Given the description of an element on the screen output the (x, y) to click on. 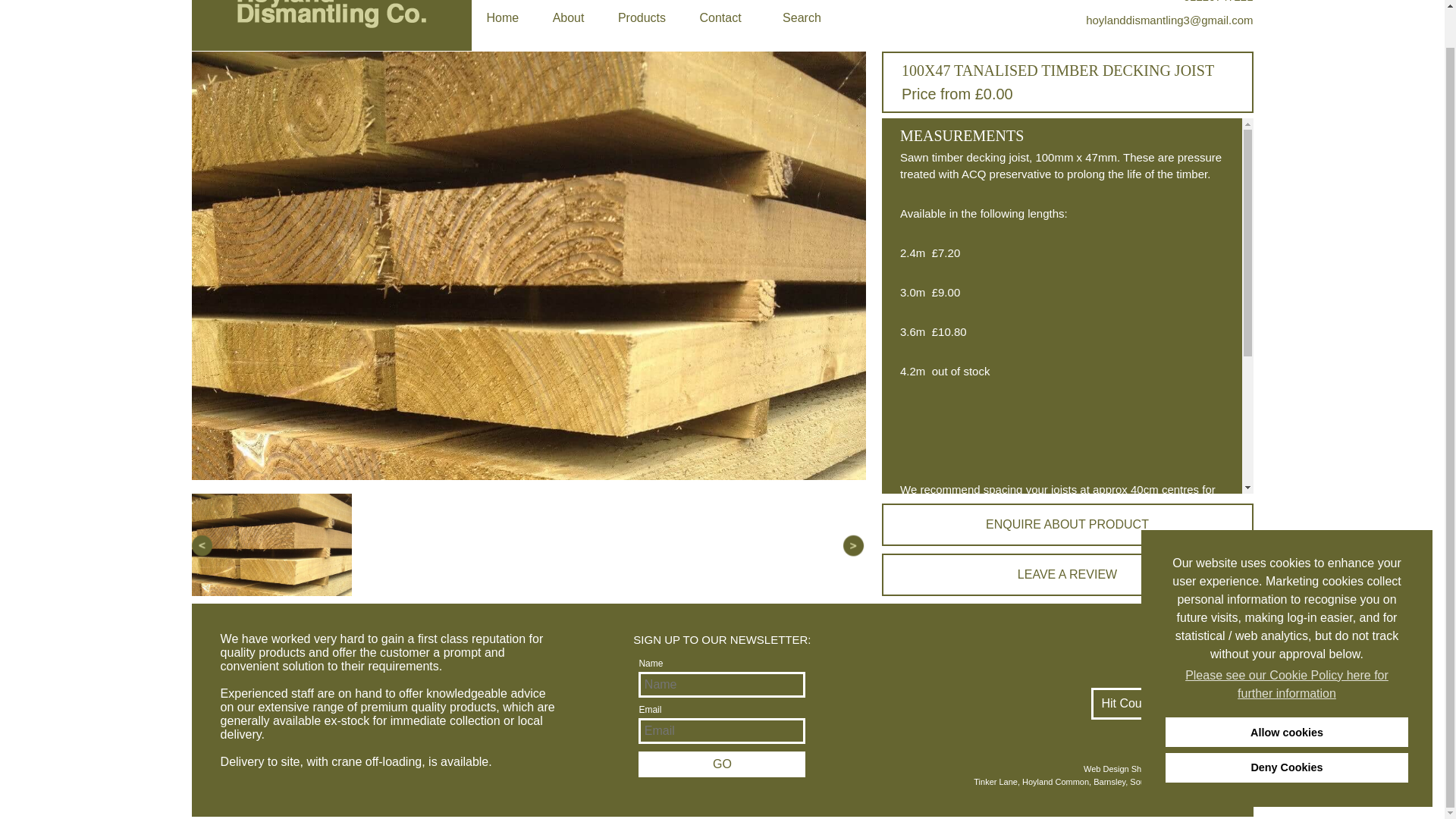
Colonial Newel Post (954, 603)
Home (502, 17)
Web Design Sheffield - Hydra Creative (1049, 768)
Patrice Newel Post (951, 652)
Decking Spindle - Eased Edge (981, 567)
GO (722, 764)
Joist Hangers (936, 688)
Allow cookies (1286, 693)
Decking Spindle - Stop Chamfered (992, 579)
Please see our Cookie Policy here for further information (1286, 644)
GO (722, 764)
Decking Screws (943, 664)
Decking Spindle - Colonial (970, 591)
Decking Boards (942, 554)
Contact (719, 17)
